Given the description of an element on the screen output the (x, y) to click on. 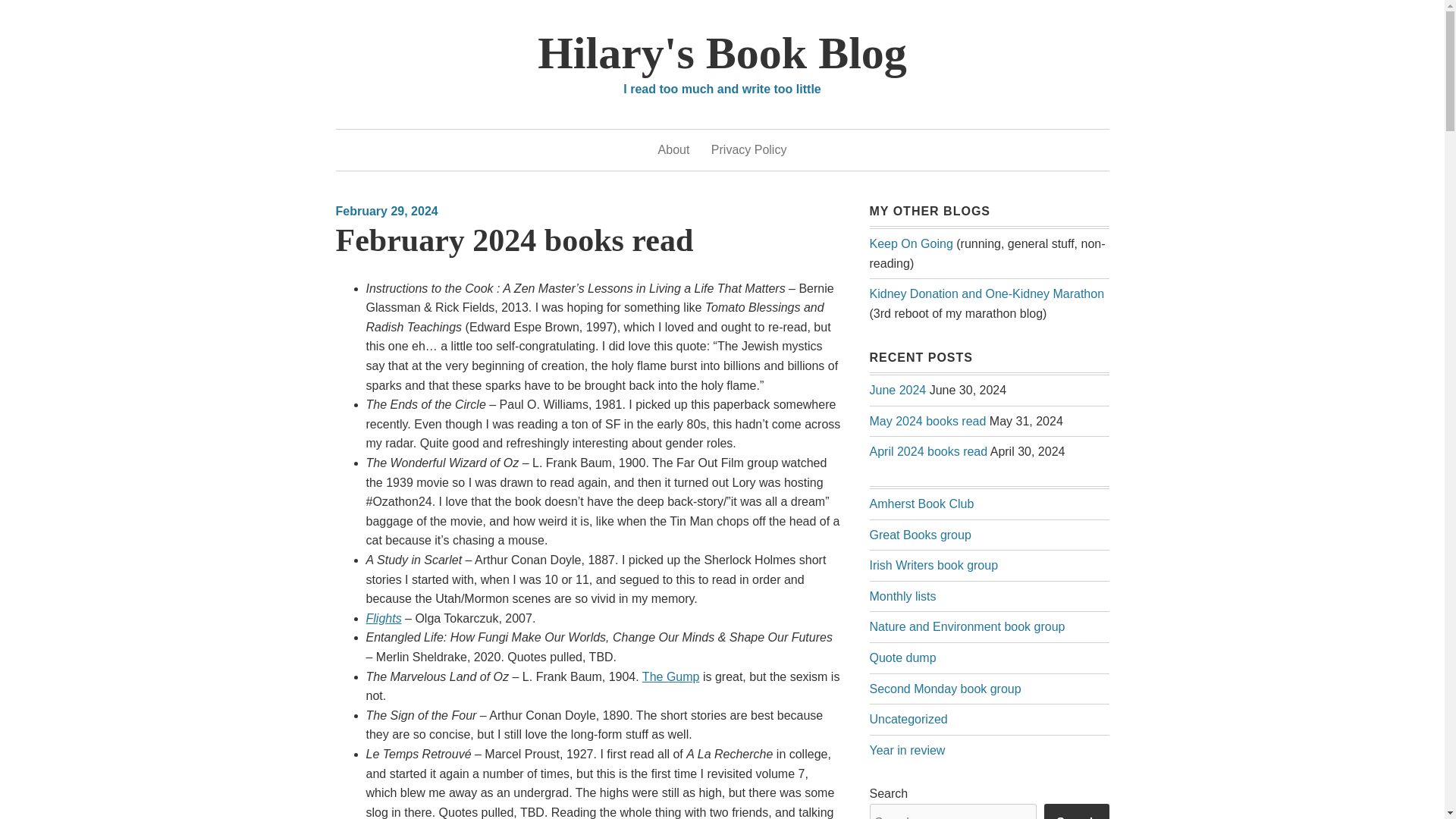
Hilary's Book Blog (722, 52)
Year in review (906, 749)
The Gump (671, 676)
Kidney Donation and One-Kidney Marathon (986, 293)
May 2024 books read (927, 420)
Flights (383, 617)
About (674, 149)
Monthly lists (902, 595)
Great Books group (920, 534)
Search (1075, 811)
